Given the description of an element on the screen output the (x, y) to click on. 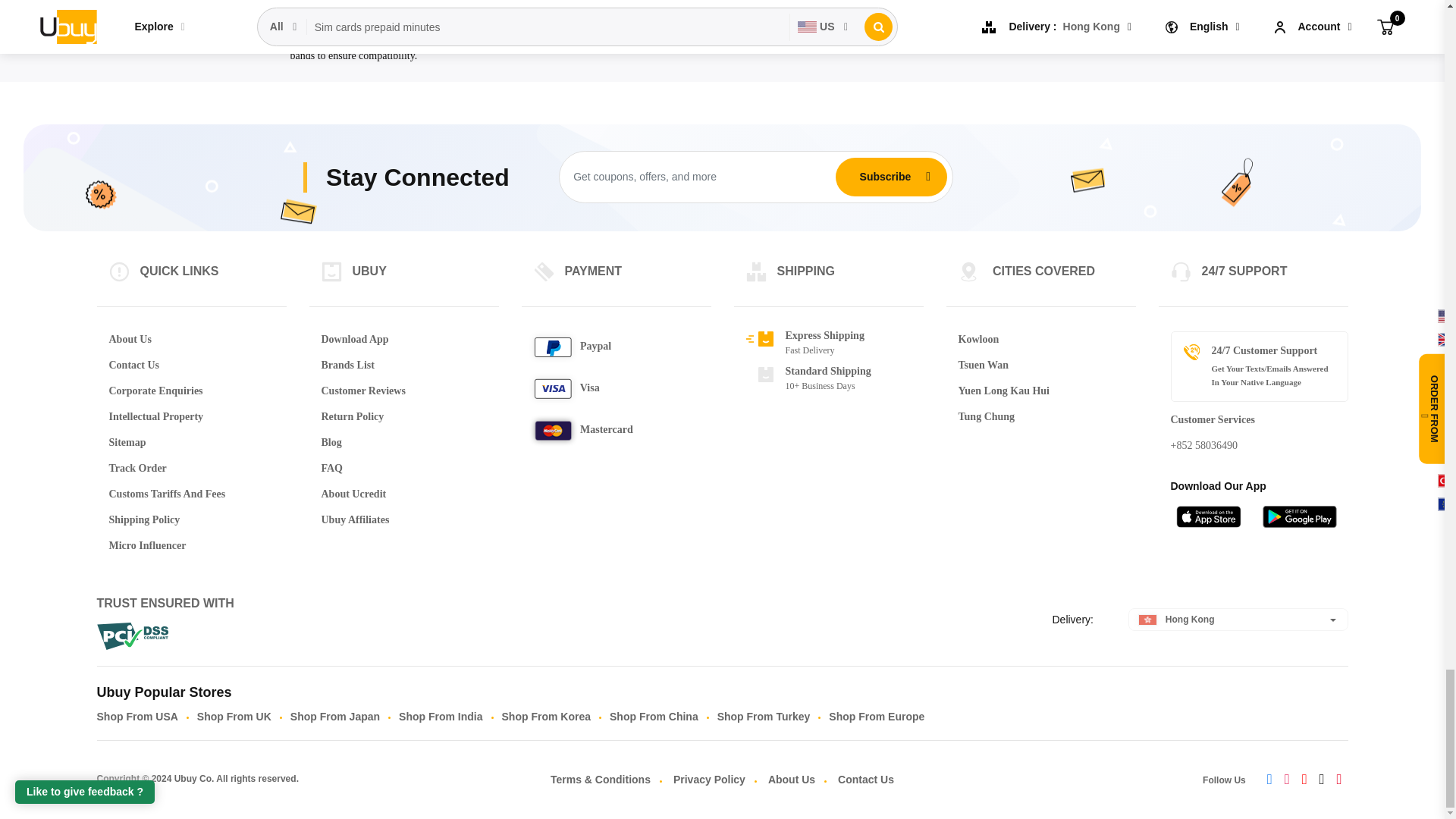
Subscribe (885, 176)
